Given the description of an element on the screen output the (x, y) to click on. 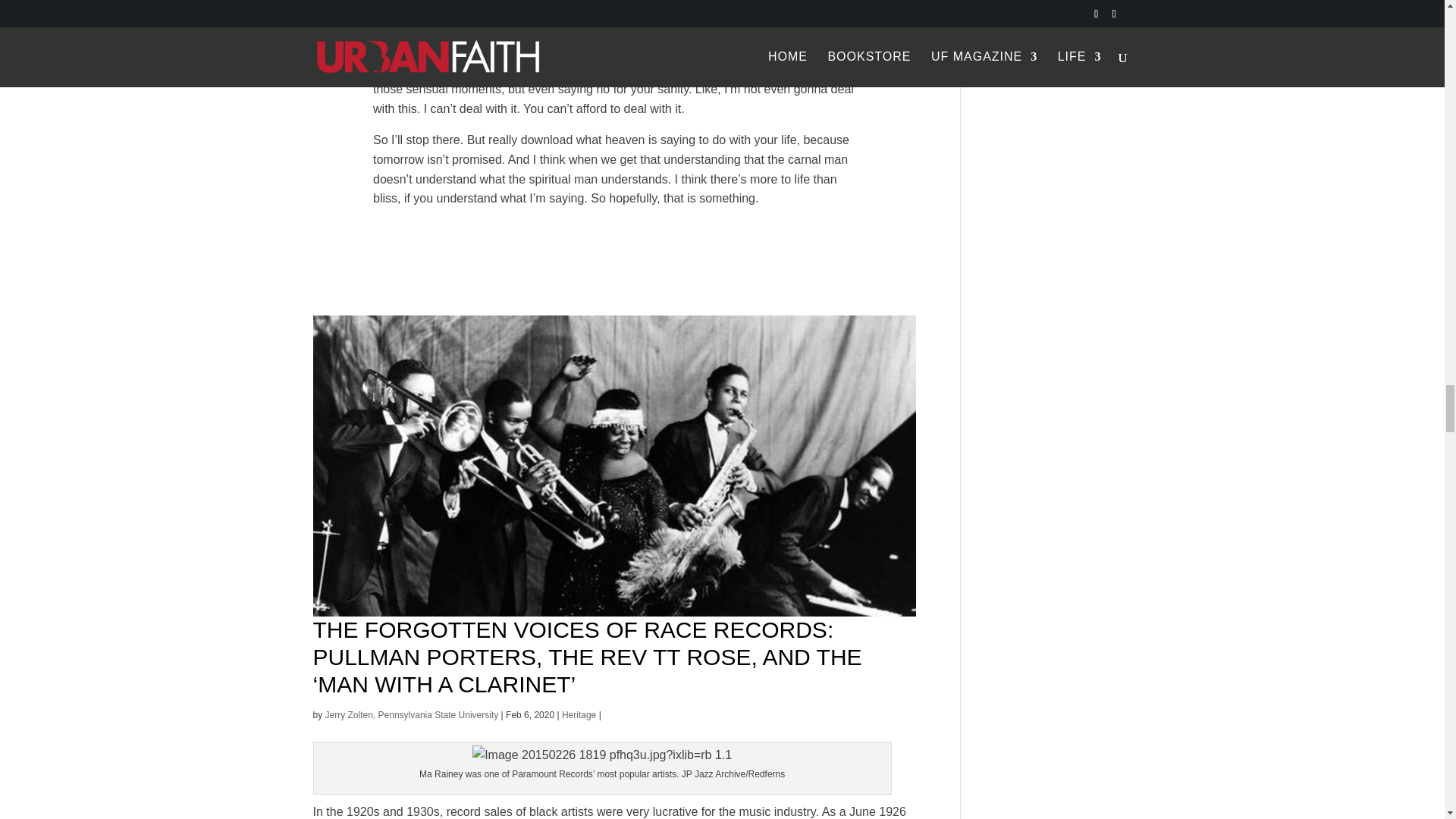
Posts by Jerry Zolten, Pennsylvania State University (411, 715)
